Given the description of an element on the screen output the (x, y) to click on. 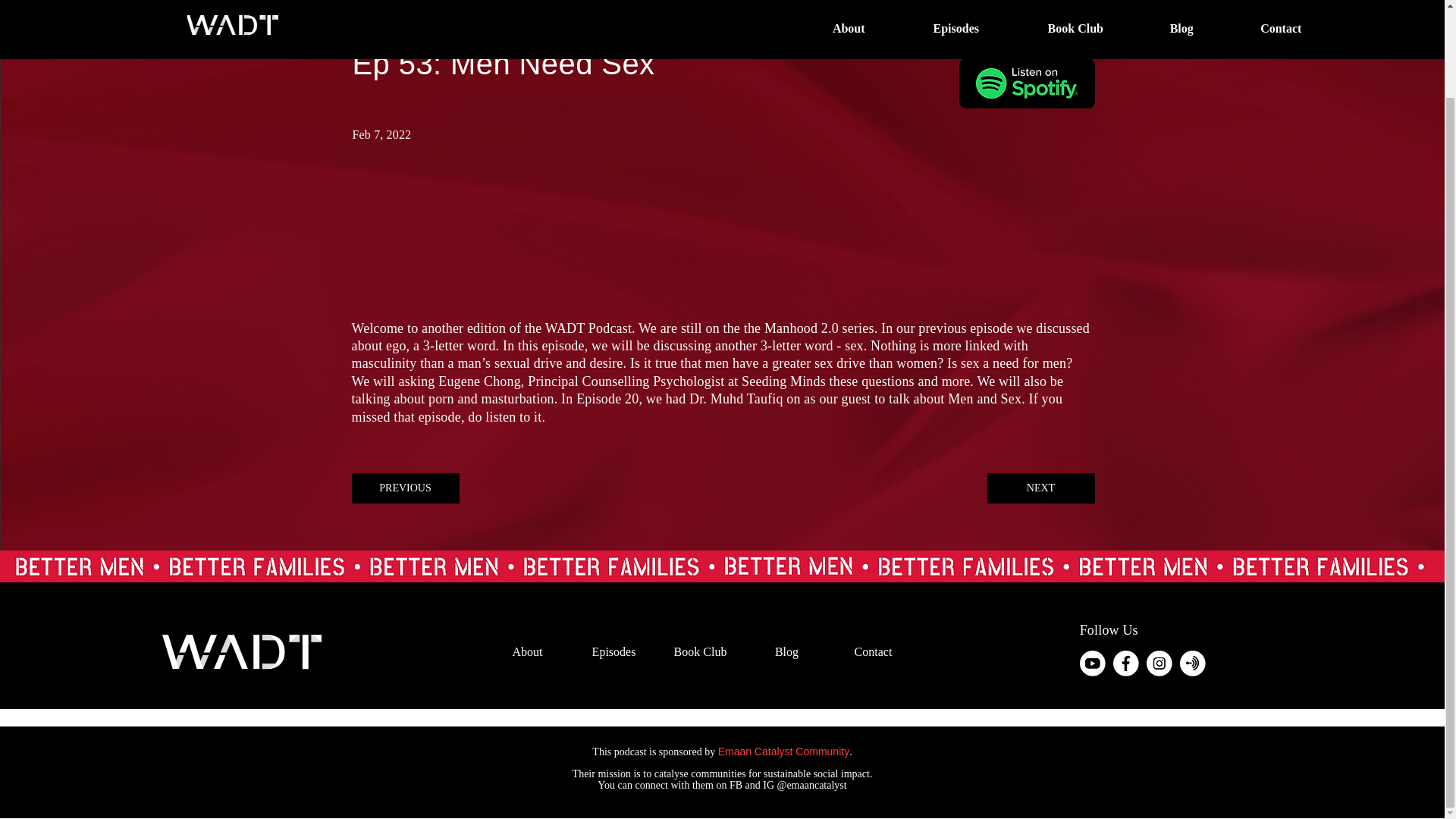
Episodes (614, 651)
Blog (785, 651)
Book Club (700, 651)
PREVIOUS (406, 488)
NEXT (1040, 488)
Emaan Catalyst Community (783, 751)
Contact (873, 651)
About (527, 651)
